Given the description of an element on the screen output the (x, y) to click on. 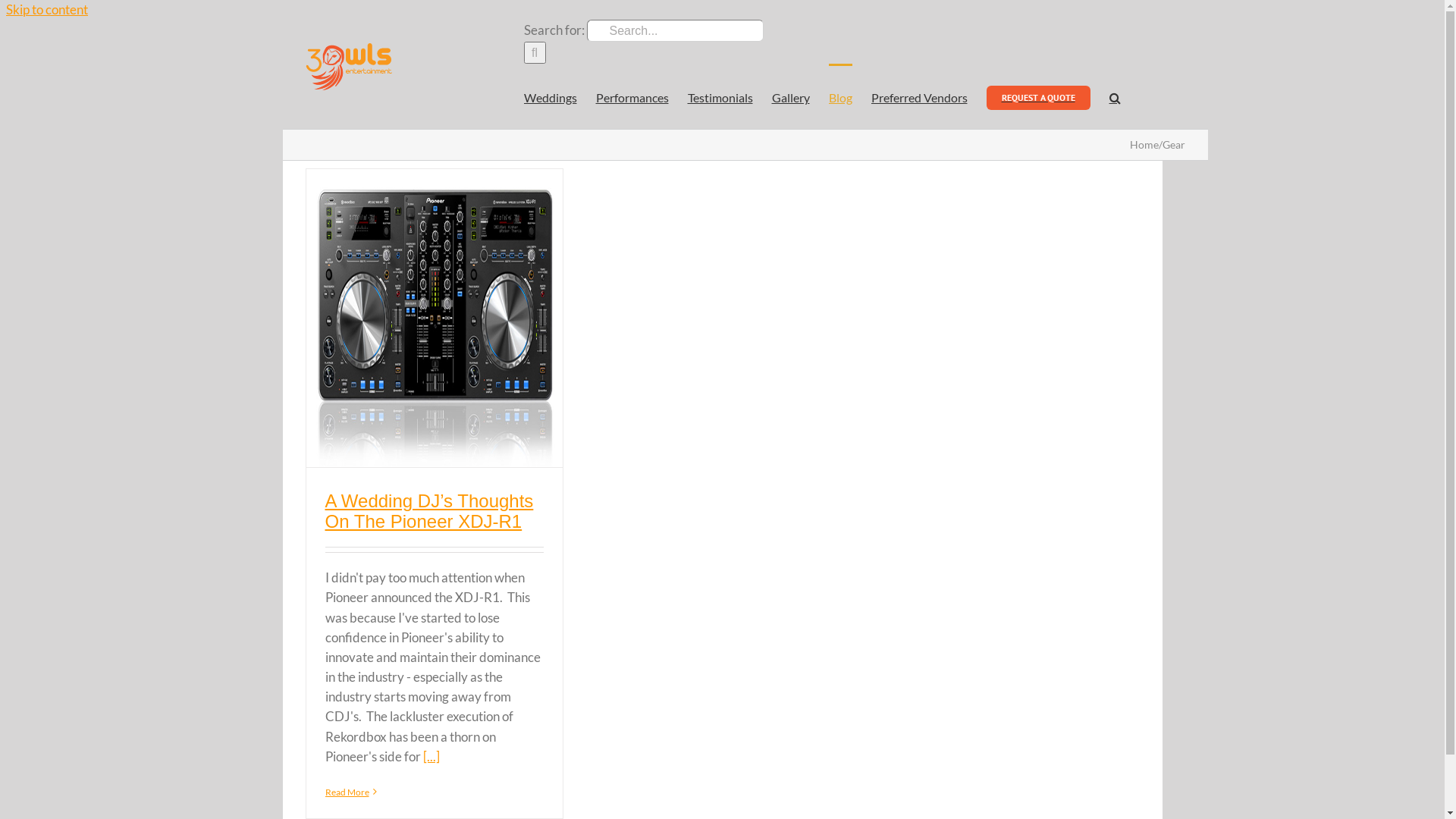
Gallery Element type: text (790, 95)
Home Element type: text (1143, 144)
Preferred Vendors Element type: text (918, 95)
Performances Element type: text (632, 95)
Blog Element type: text (839, 95)
Testimonials Element type: text (719, 95)
Skip to content Element type: text (46, 9)
[...] Element type: text (431, 756)
Search Element type: hover (1114, 95)
REQUEST A QUOTE Element type: text (1037, 95)
Read More Element type: text (346, 791)
Weddings Element type: text (549, 95)
